Given the description of an element on the screen output the (x, y) to click on. 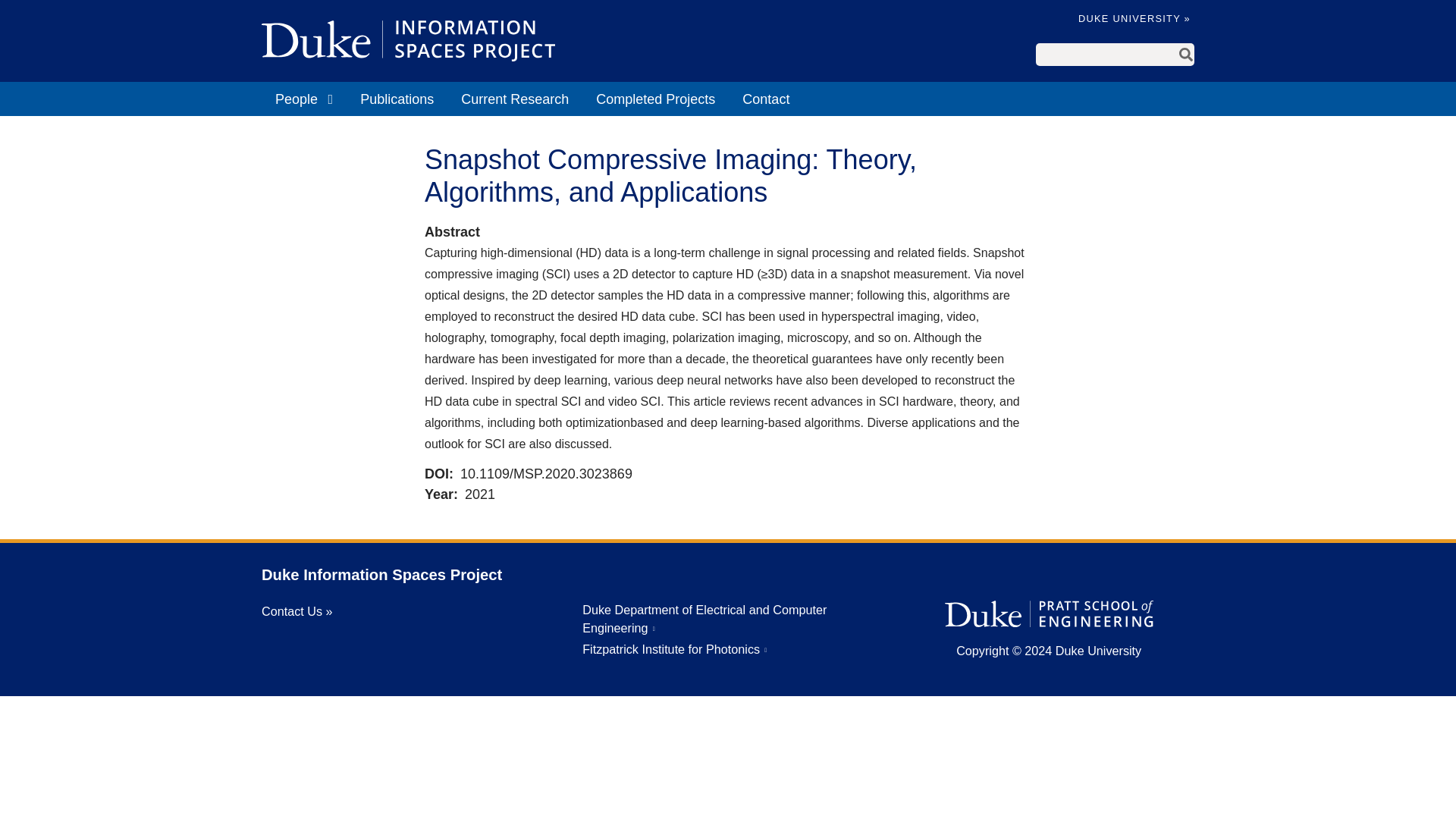
Enter the terms you wish to search for. (1106, 54)
Completed Projects (655, 98)
Current Research (514, 98)
Contact (766, 98)
Fitzpatrick Institute for Photonics (674, 649)
Search (1185, 54)
Duke Department of Electrical and Computer Engineering (704, 618)
Publications (396, 98)
